Given the description of an element on the screen output the (x, y) to click on. 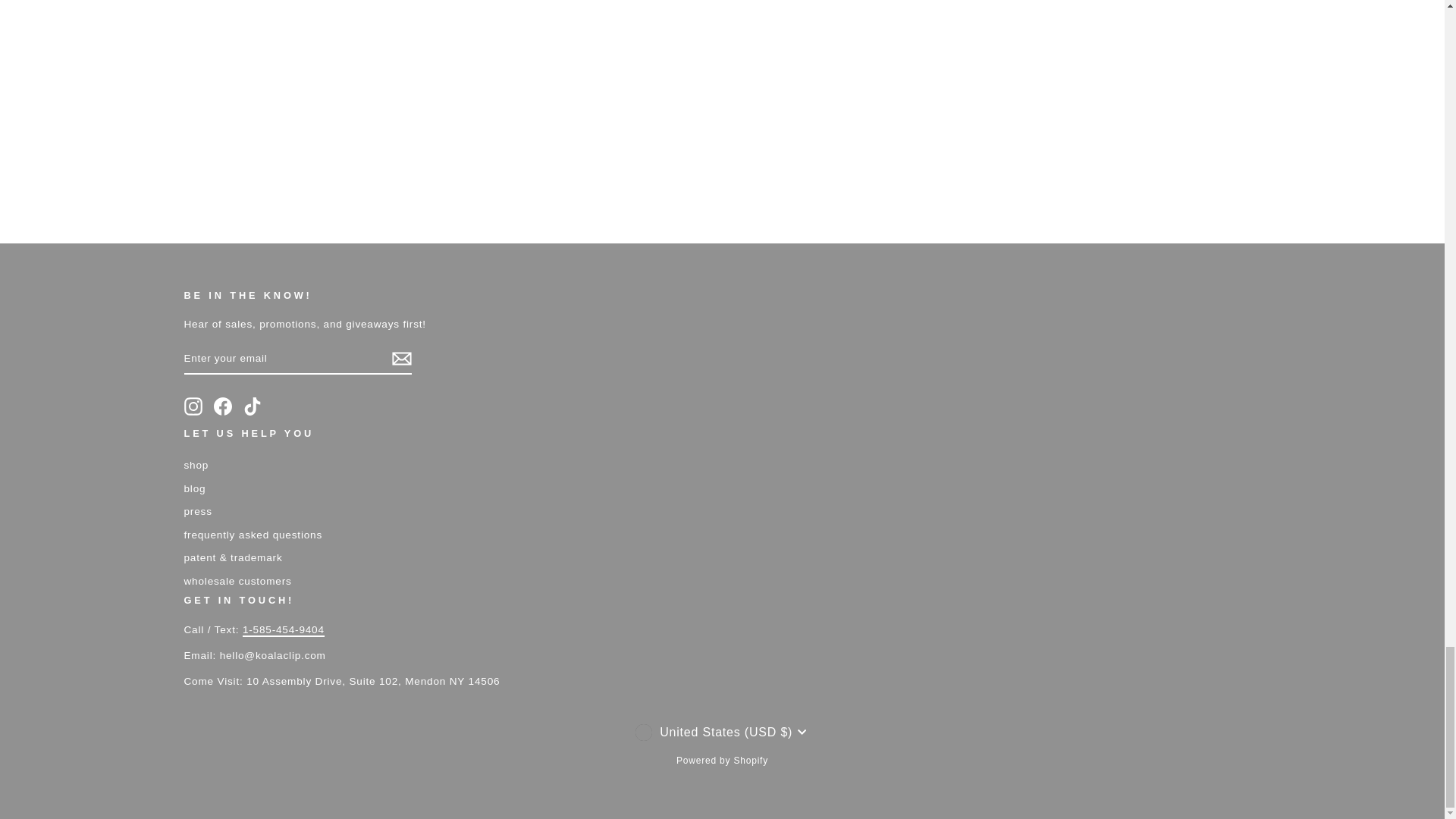
instagram (192, 406)
icon-email (400, 358)
Koala Clip on TikTok (251, 406)
Koala Clip on Instagram (192, 406)
Koala Clip on Facebook (222, 406)
